Given the description of an element on the screen output the (x, y) to click on. 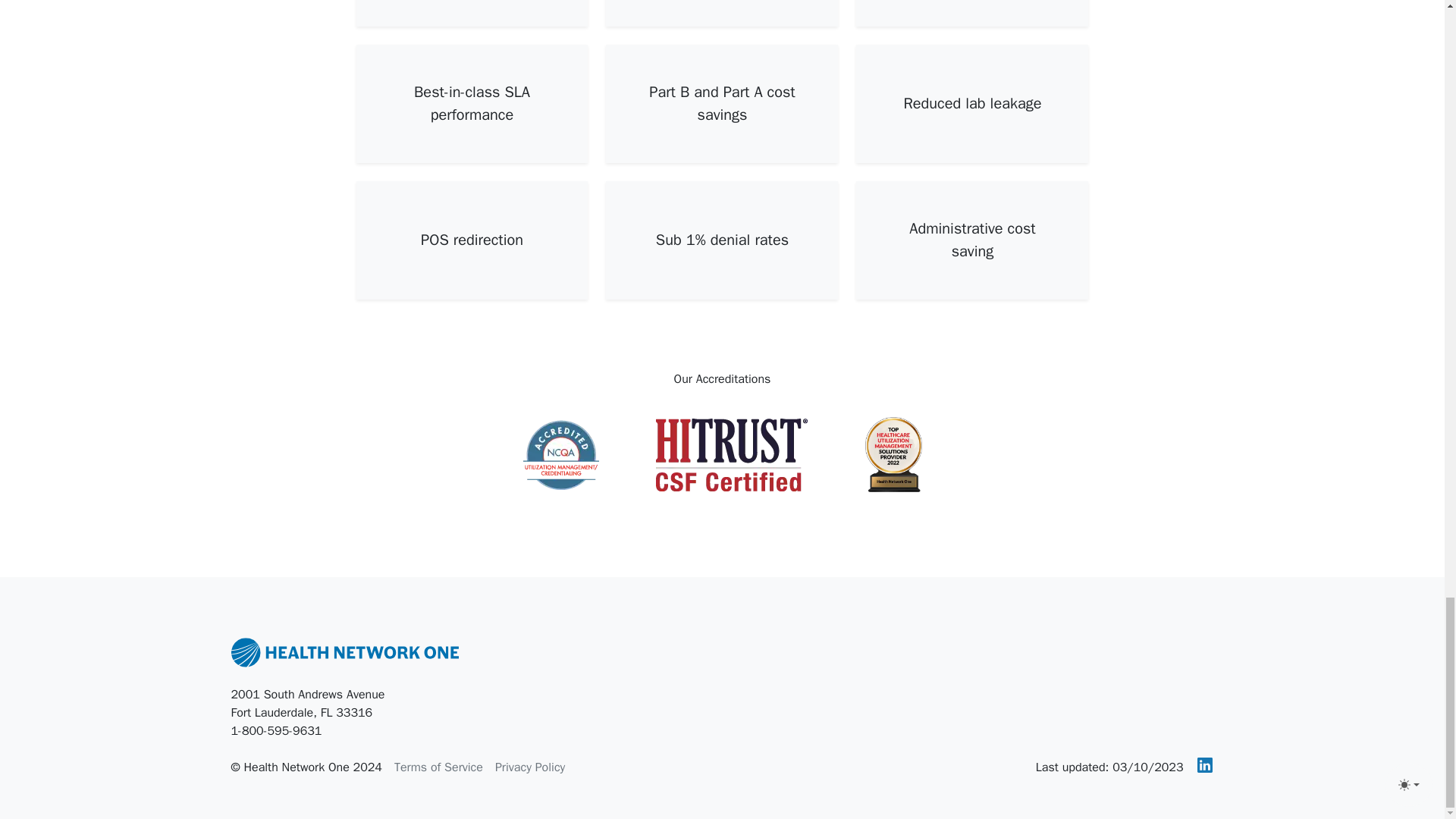
Terms of Service (438, 767)
Privacy Policy (529, 767)
1-800-595-9631 (275, 730)
